Given the description of an element on the screen output the (x, y) to click on. 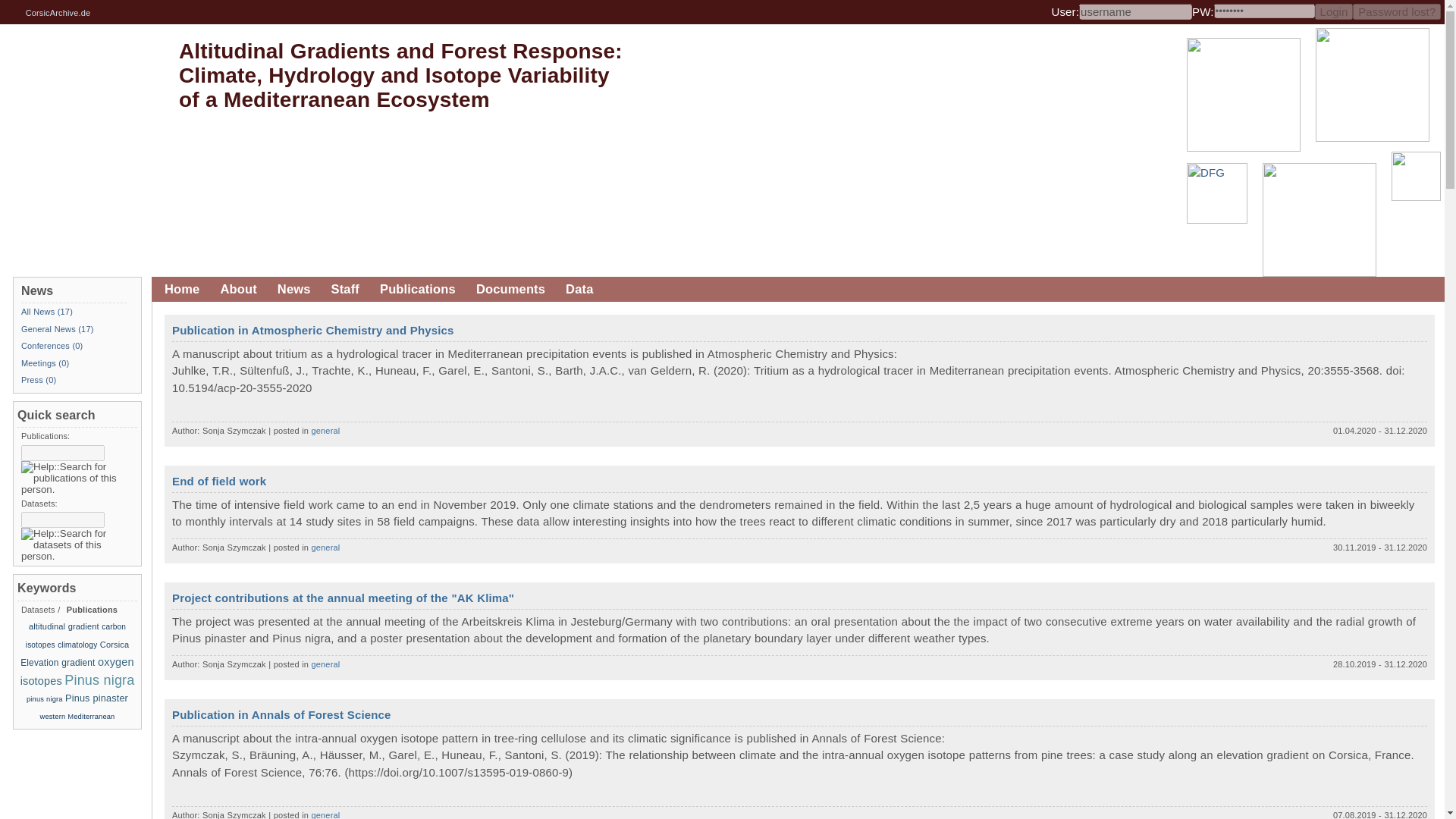
Login (1334, 11)
general (325, 664)
Data (579, 289)
Documents (509, 289)
Publication in Annals of Forest Science (281, 714)
general (325, 547)
News (293, 289)
View all posts in general (325, 664)
general (325, 814)
View all posts in general (325, 547)
Staff (344, 289)
username (1135, 11)
View all posts in general (325, 814)
Home (181, 289)
